Given the description of an element on the screen output the (x, y) to click on. 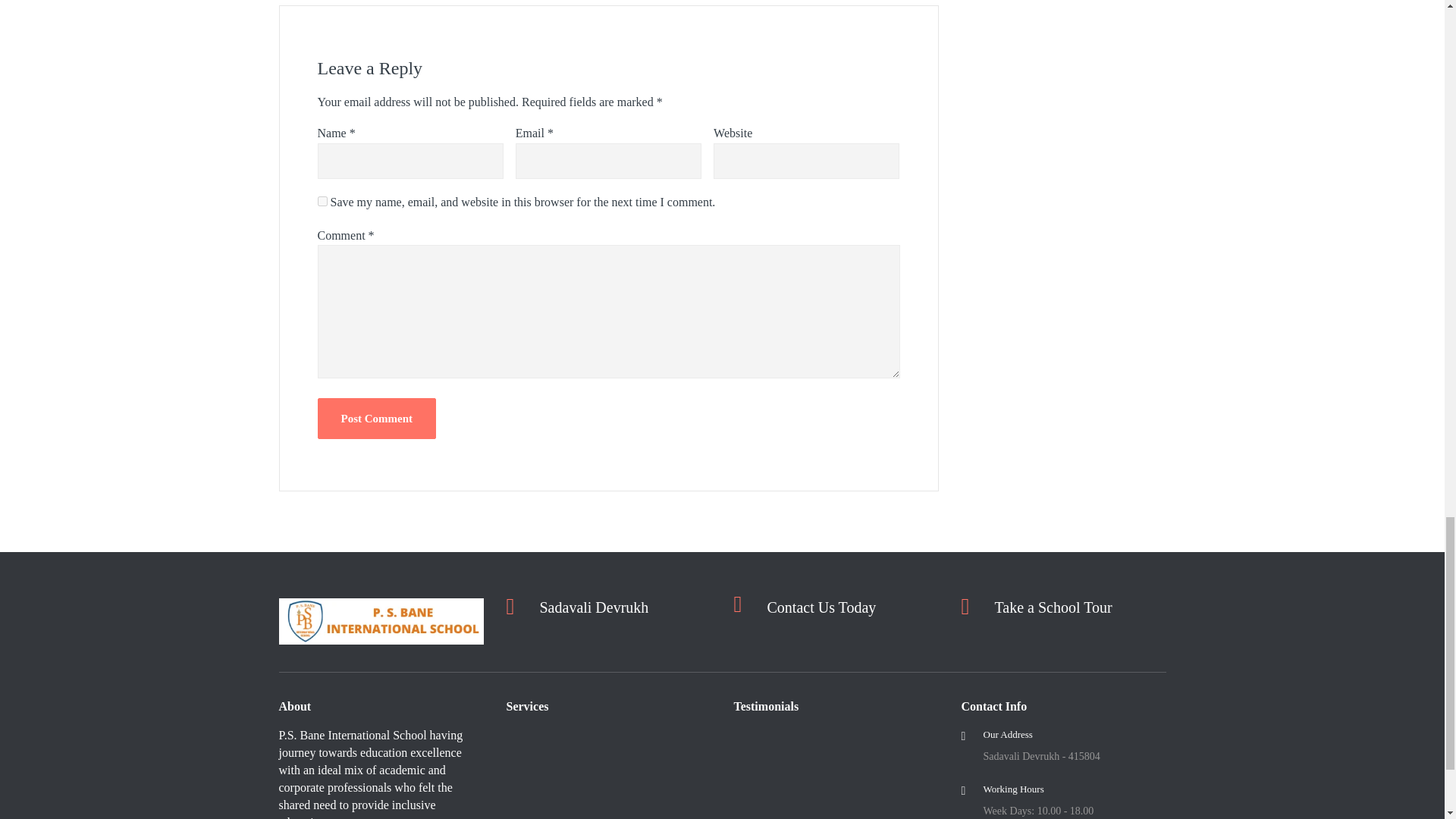
Post Comment (376, 418)
yes (321, 201)
